Given the description of an element on the screen output the (x, y) to click on. 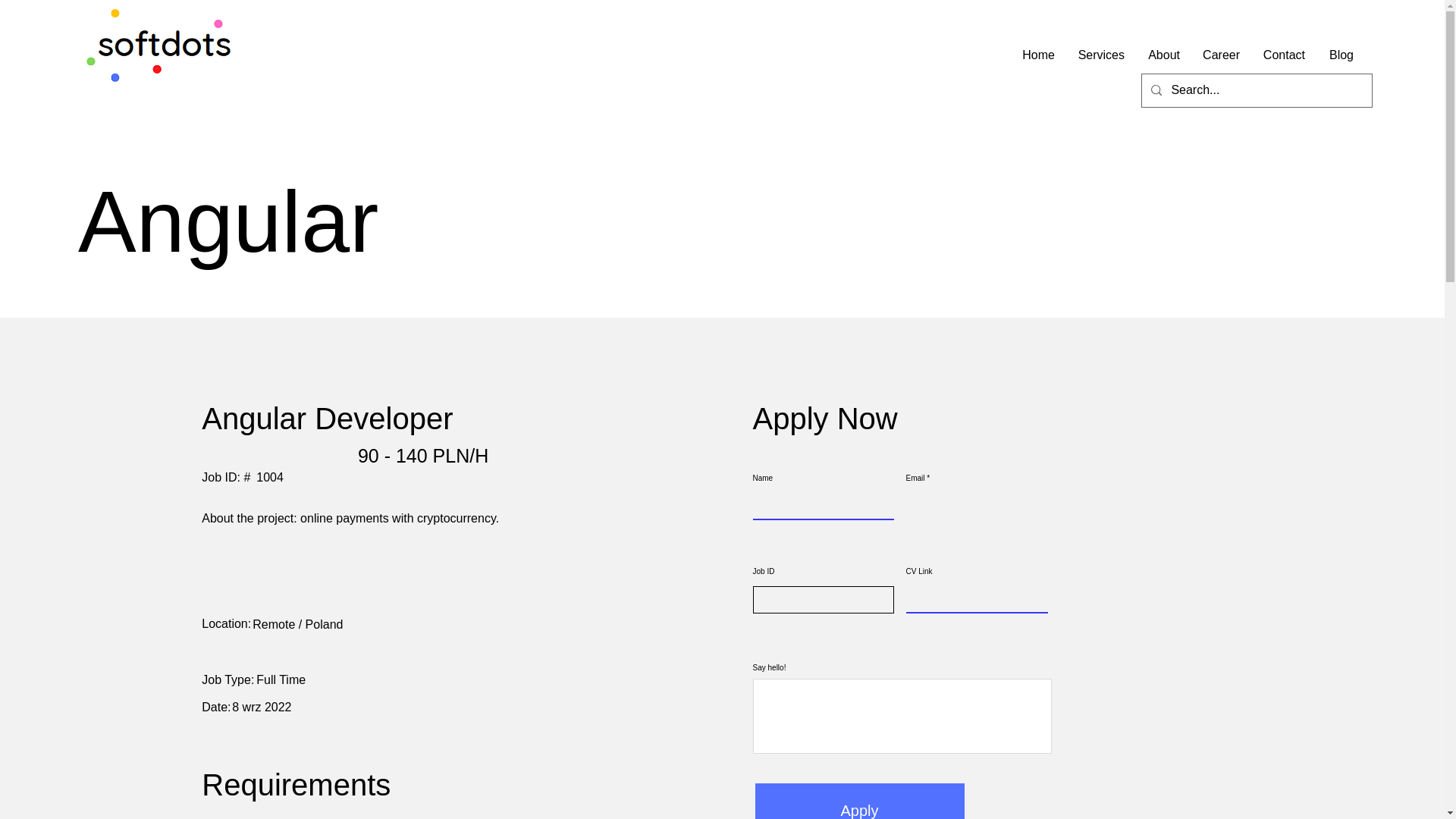
About (1163, 55)
Blog (1340, 55)
Services (1100, 55)
Apply (859, 800)
Career (1220, 55)
Home (1037, 55)
Contact (1283, 55)
